Given the description of an element on the screen output the (x, y) to click on. 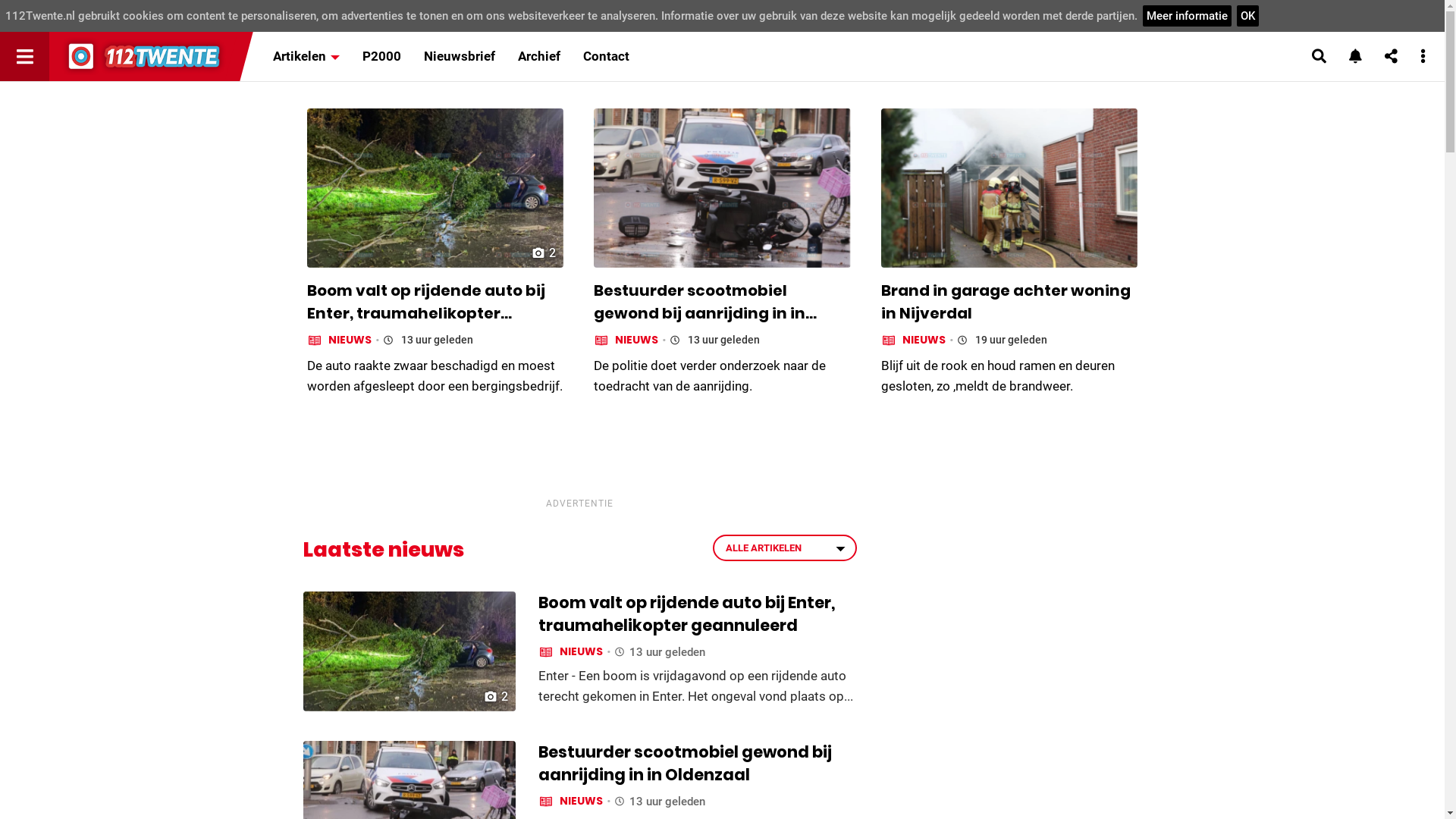
Contact Element type: text (605, 56)
P2000 Element type: text (381, 56)
Artikelen Element type: text (306, 56)
Archief Element type: text (538, 56)
Meer informatie Element type: text (1186, 15)
Nieuwsbrief Element type: text (459, 56)
Advertisement Element type: hover (579, 457)
